Given the description of an element on the screen output the (x, y) to click on. 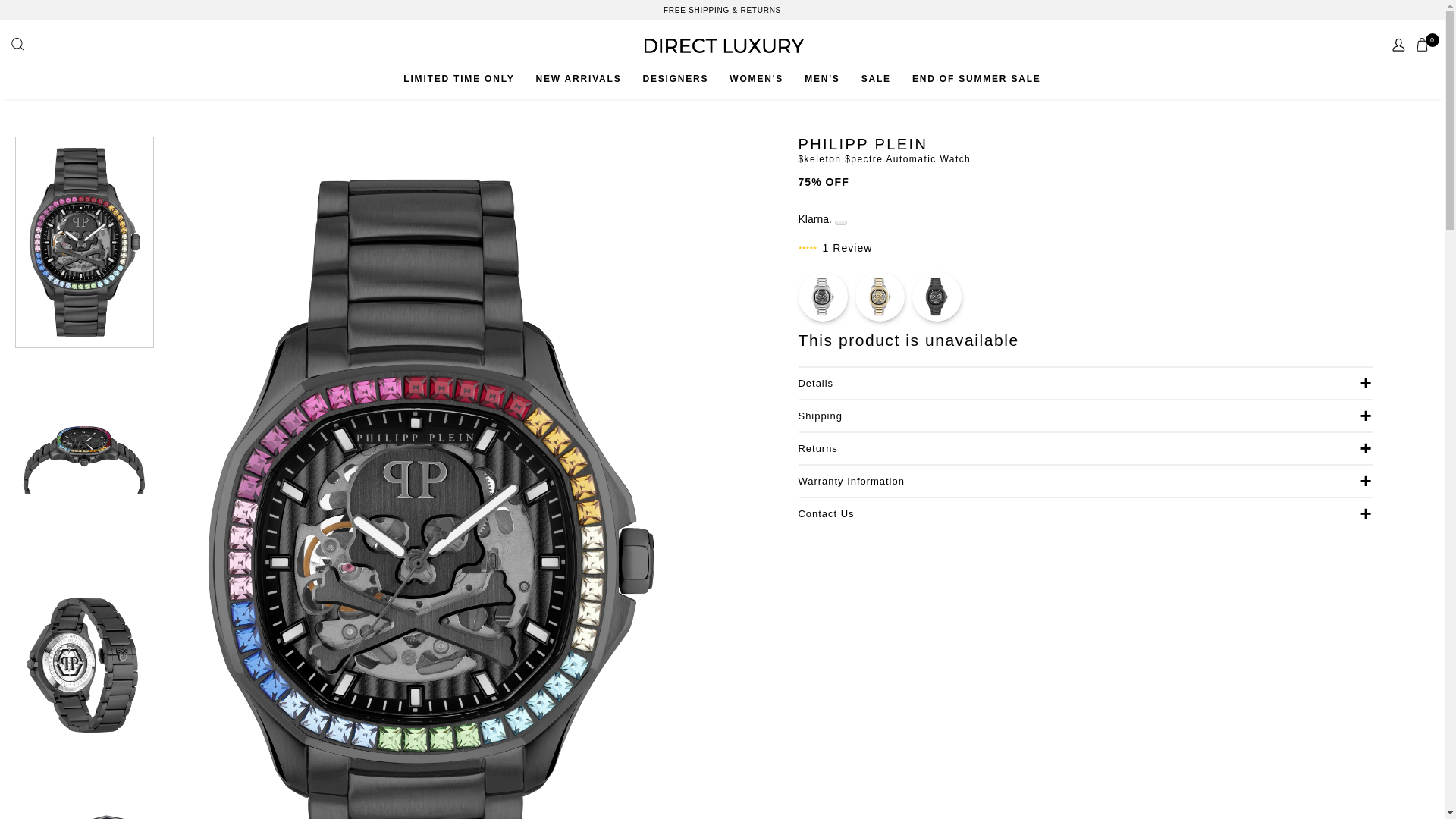
WOMEN'S (756, 78)
LIMITED TIME ONLY (458, 78)
DESIGNERS (674, 78)
NEW ARRIVALS (578, 78)
0 (1424, 45)
